Given the description of an element on the screen output the (x, y) to click on. 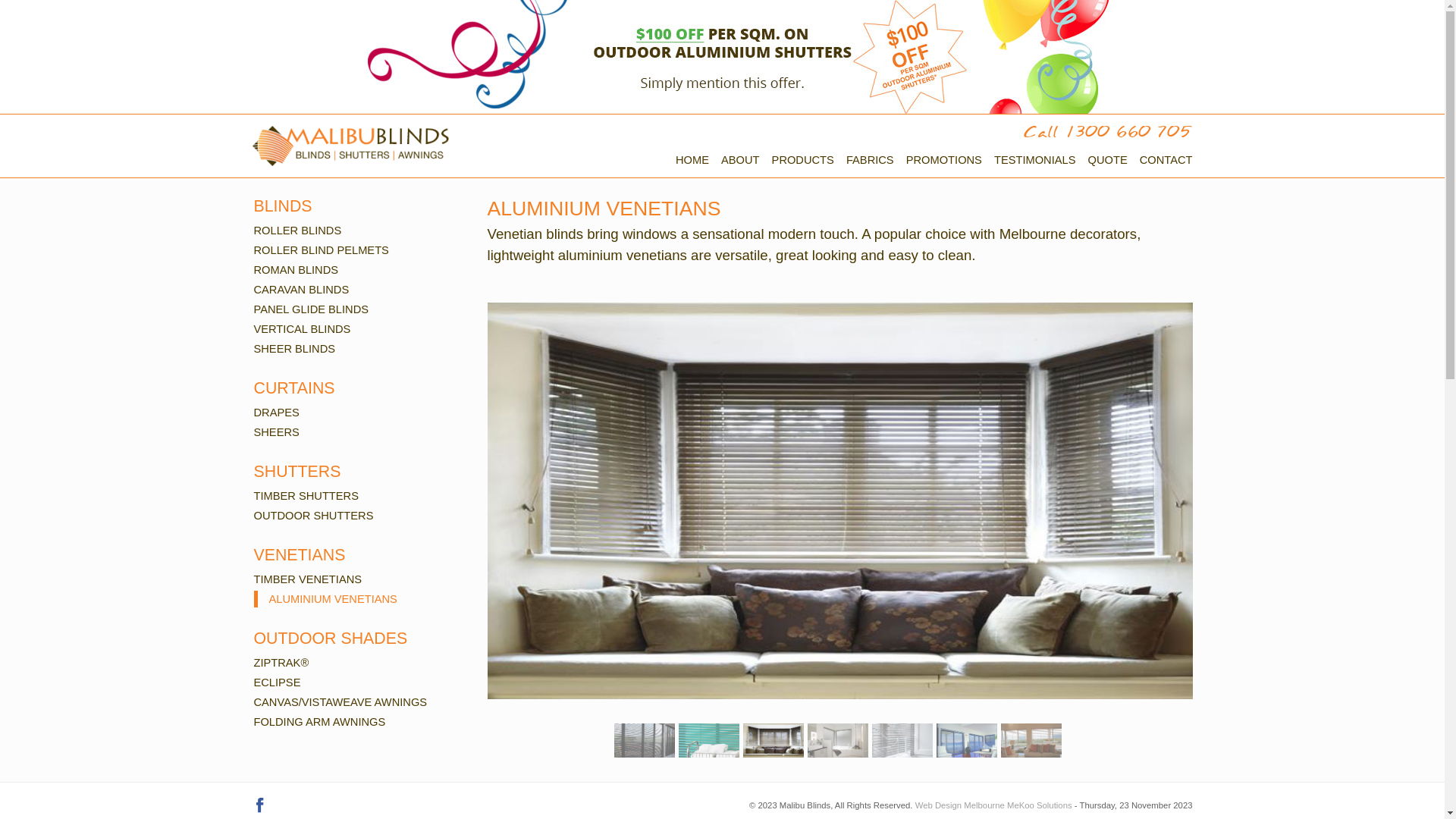
CONTACT Element type: text (1165, 159)
ECLIPSE Element type: text (359, 682)
QUOTE Element type: text (1107, 159)
DRAPES Element type: text (359, 412)
ABOUT Element type: text (740, 159)
CARAVAN BLINDS Element type: text (359, 289)
FOLDING ARM AWNINGS Element type: text (359, 721)
ROLLER BLINDS Element type: text (359, 230)
Web Design Melbourne MeKoo Solutions Element type: text (993, 804)
VERTICAL BLINDS Element type: text (359, 328)
CANVAS/VISTAWEAVE AWNINGS Element type: text (359, 701)
Malibu Blinds on Facebook Element type: hover (258, 804)
HOME Element type: text (692, 159)
Call 1300 660 705 Element type: text (1107, 131)
TESTIMONIALS Element type: text (1035, 159)
SHEERS Element type: text (359, 431)
TIMBER SHUTTERS Element type: text (359, 495)
ALUMINIUM VENETIANS Element type: text (359, 598)
PANEL GLIDE BLINDS Element type: text (359, 309)
OUTDOOR SHUTTERS Element type: text (359, 515)
FABRICS Element type: text (870, 159)
TIMBER VENETIANS Element type: text (359, 579)
ROMAN BLINDS Element type: text (359, 269)
PROMOTIONS Element type: text (944, 159)
SHEER BLINDS Element type: text (359, 348)
Malibu Blinds's Logo Element type: hover (349, 145)
PRODUCTS Element type: text (802, 159)
ROLLER BLIND PELMETS Element type: text (359, 249)
